Given the description of an element on the screen output the (x, y) to click on. 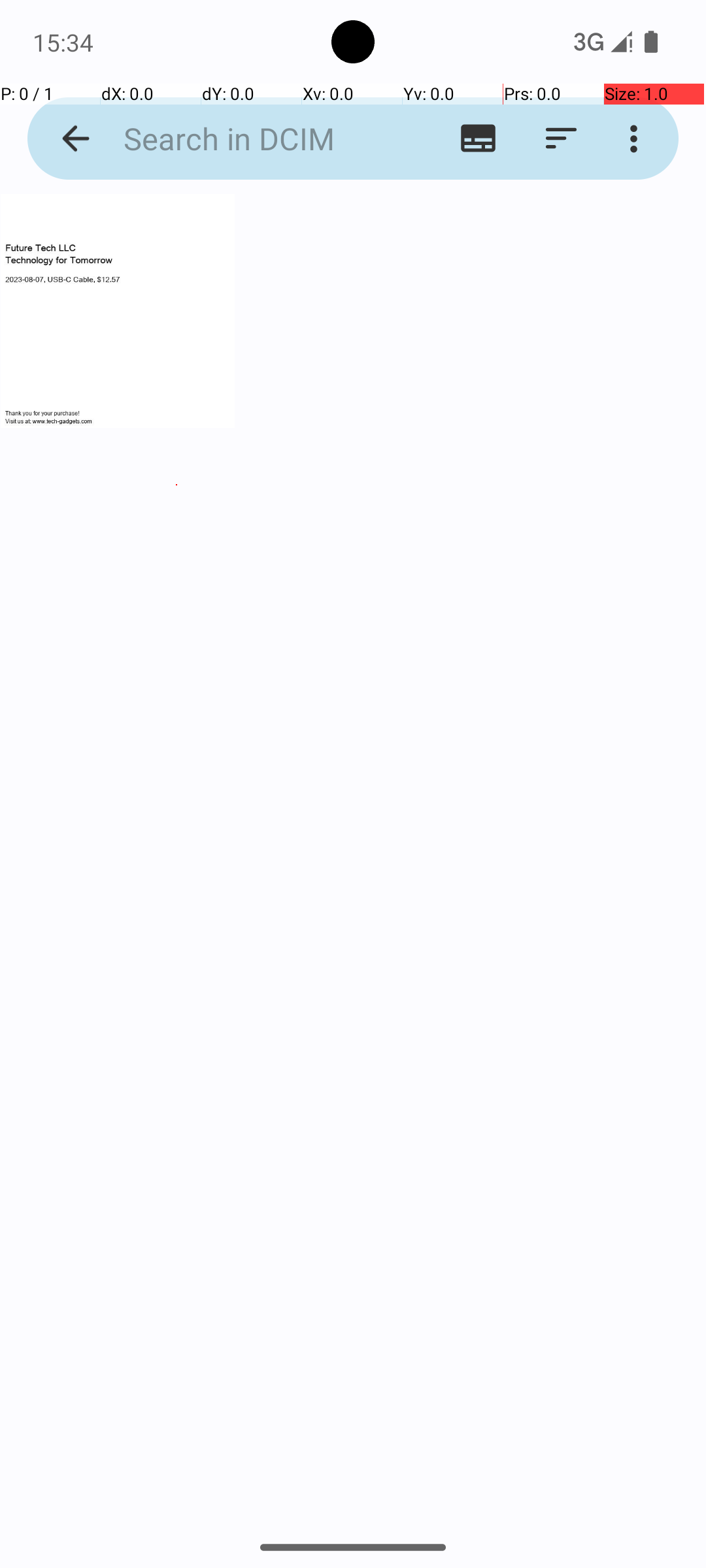
Search in DCIM Element type: android.widget.EditText (252, 138)
Toggle filename visibility Element type: android.widget.Button (477, 138)
